Given the description of an element on the screen output the (x, y) to click on. 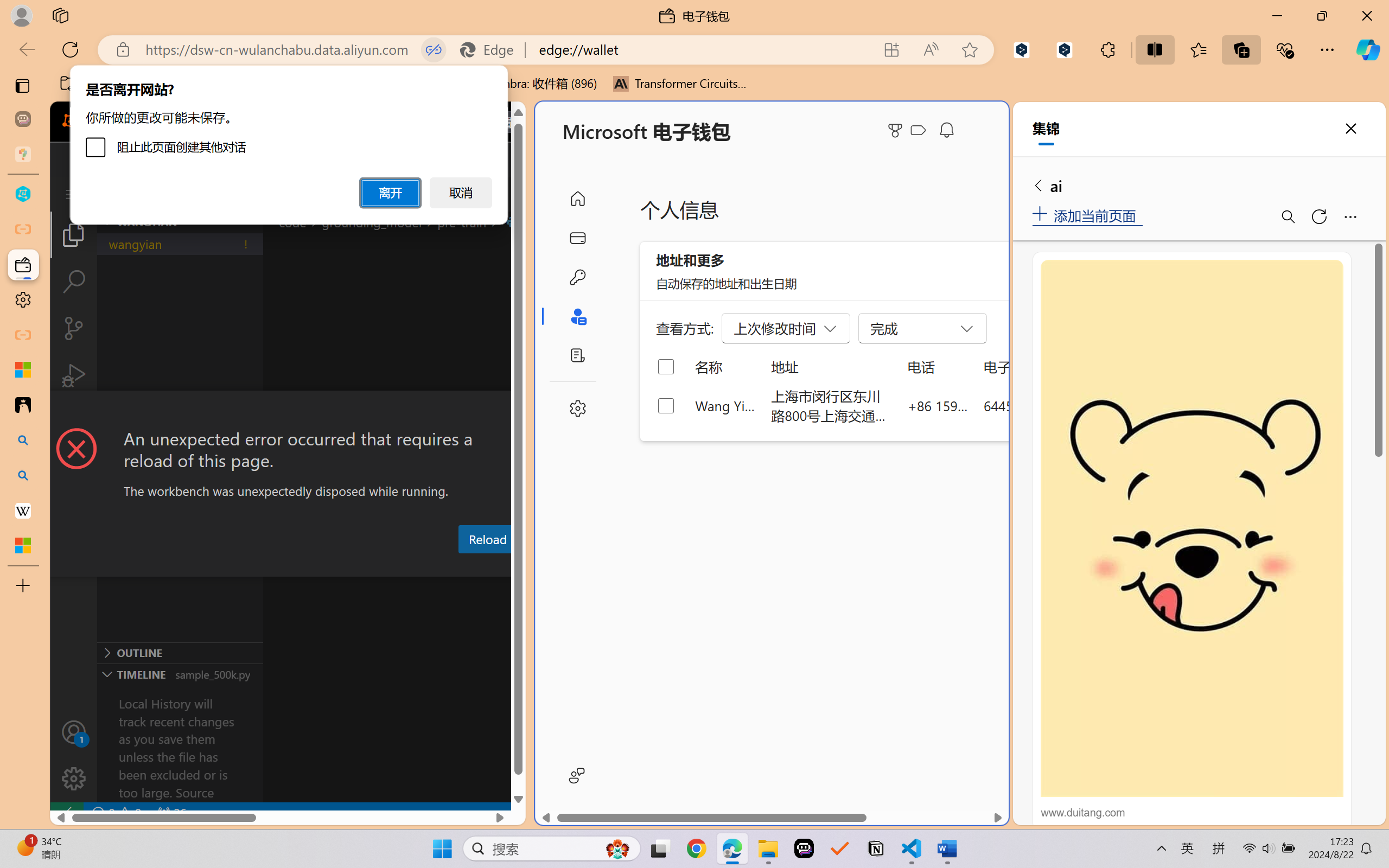
Wang Yian (725, 405)
remote (66, 812)
Run and Debug (Ctrl+Shift+D) (73, 375)
Extensions (Ctrl+Shift+X) (73, 422)
Microsoft Rewards (896, 129)
Microsoft security help and learning (22, 369)
